Given the description of an element on the screen output the (x, y) to click on. 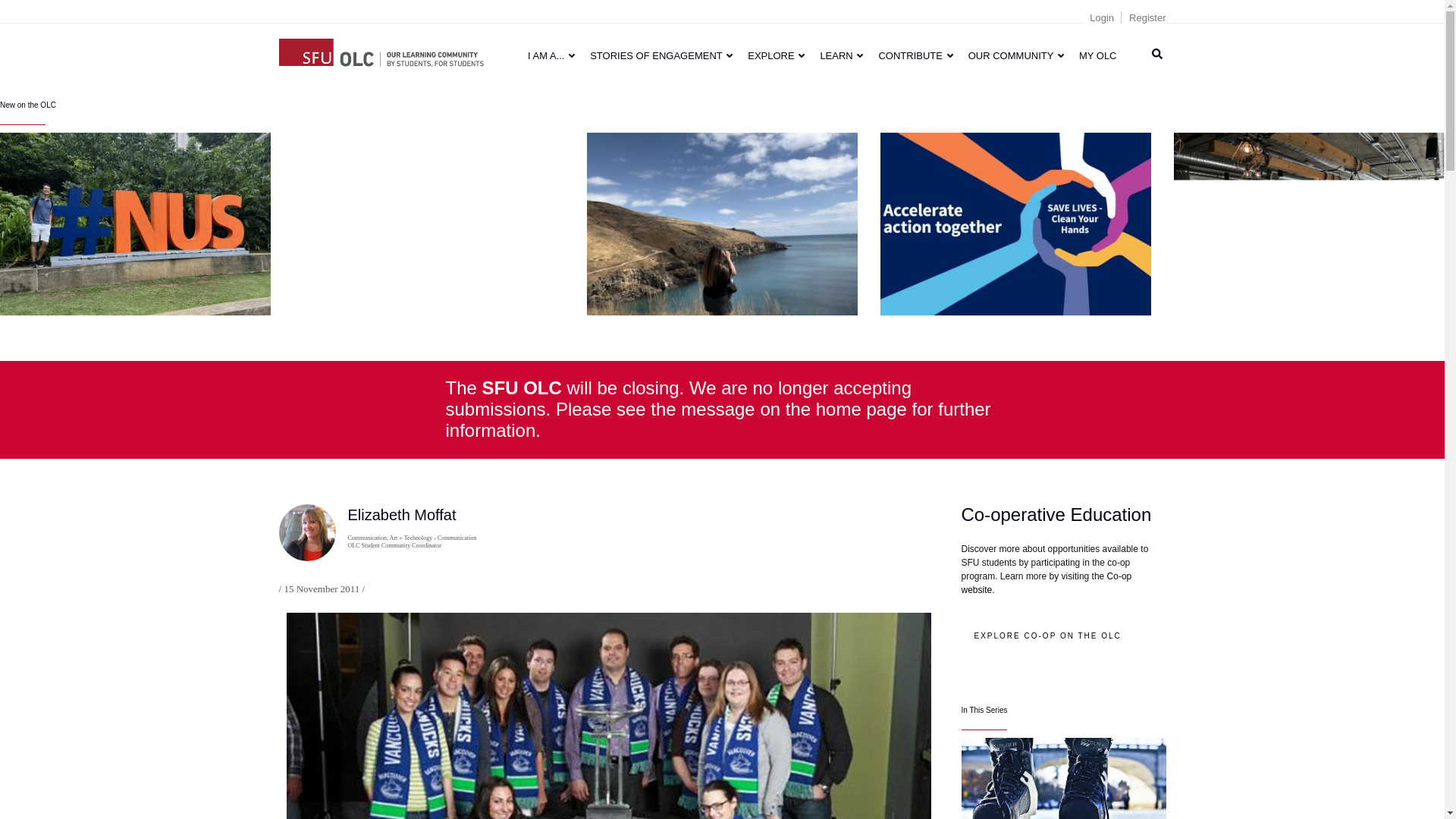
LEARN (841, 55)
Register (1147, 17)
I AM A... (550, 55)
STORIES OF ENGAGEMENT (660, 55)
OUR COMMUNITY (1015, 55)
Login (1101, 17)
CONTRIBUTE (914, 55)
NUS sign in Utown (135, 223)
Godley Head Hike (721, 223)
EXPLORE (775, 55)
Home (381, 50)
